Given the description of an element on the screen output the (x, y) to click on. 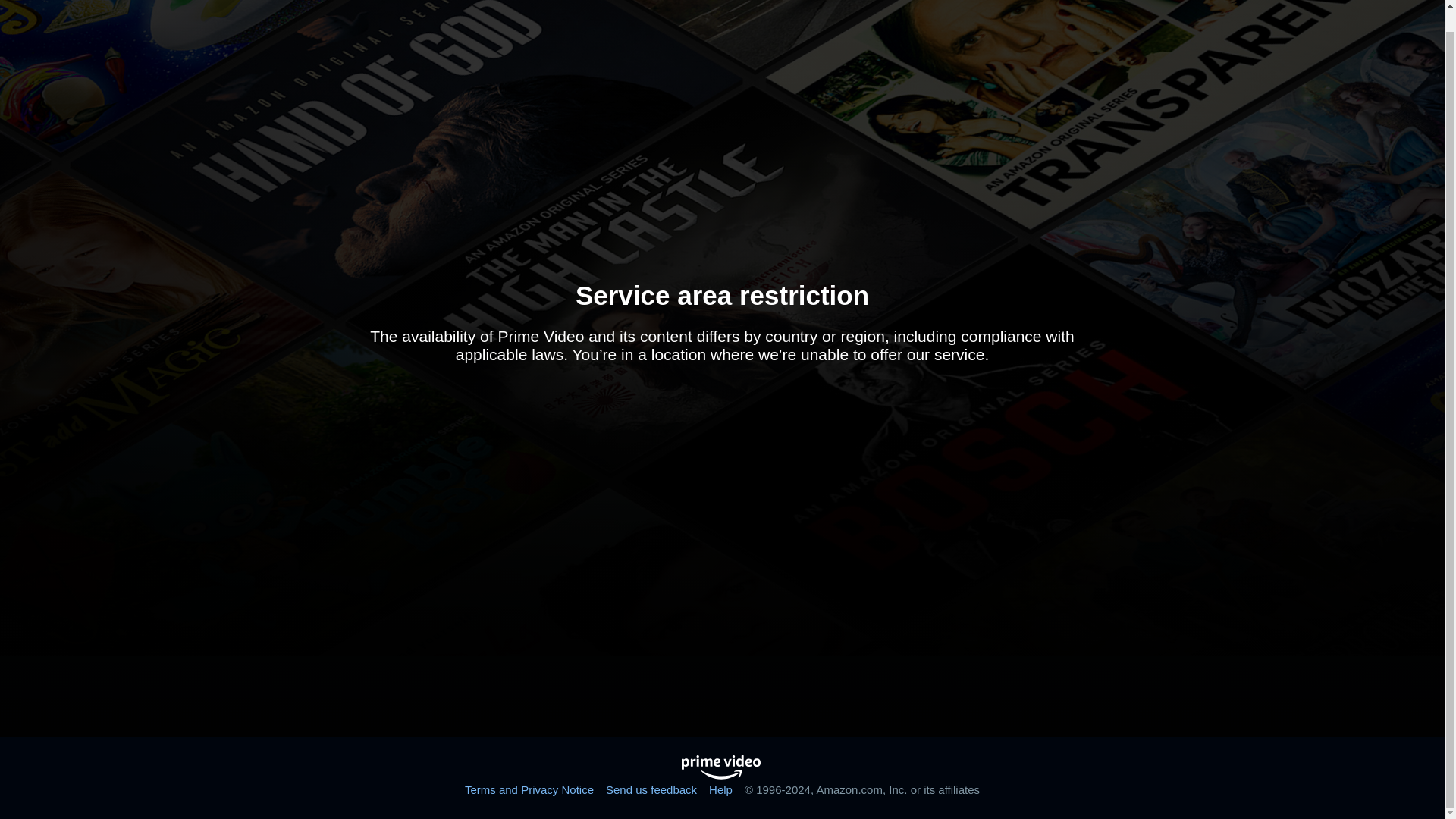
Help (720, 789)
Send us feedback (651, 789)
Terms and Privacy Notice (529, 789)
